Given the description of an element on the screen output the (x, y) to click on. 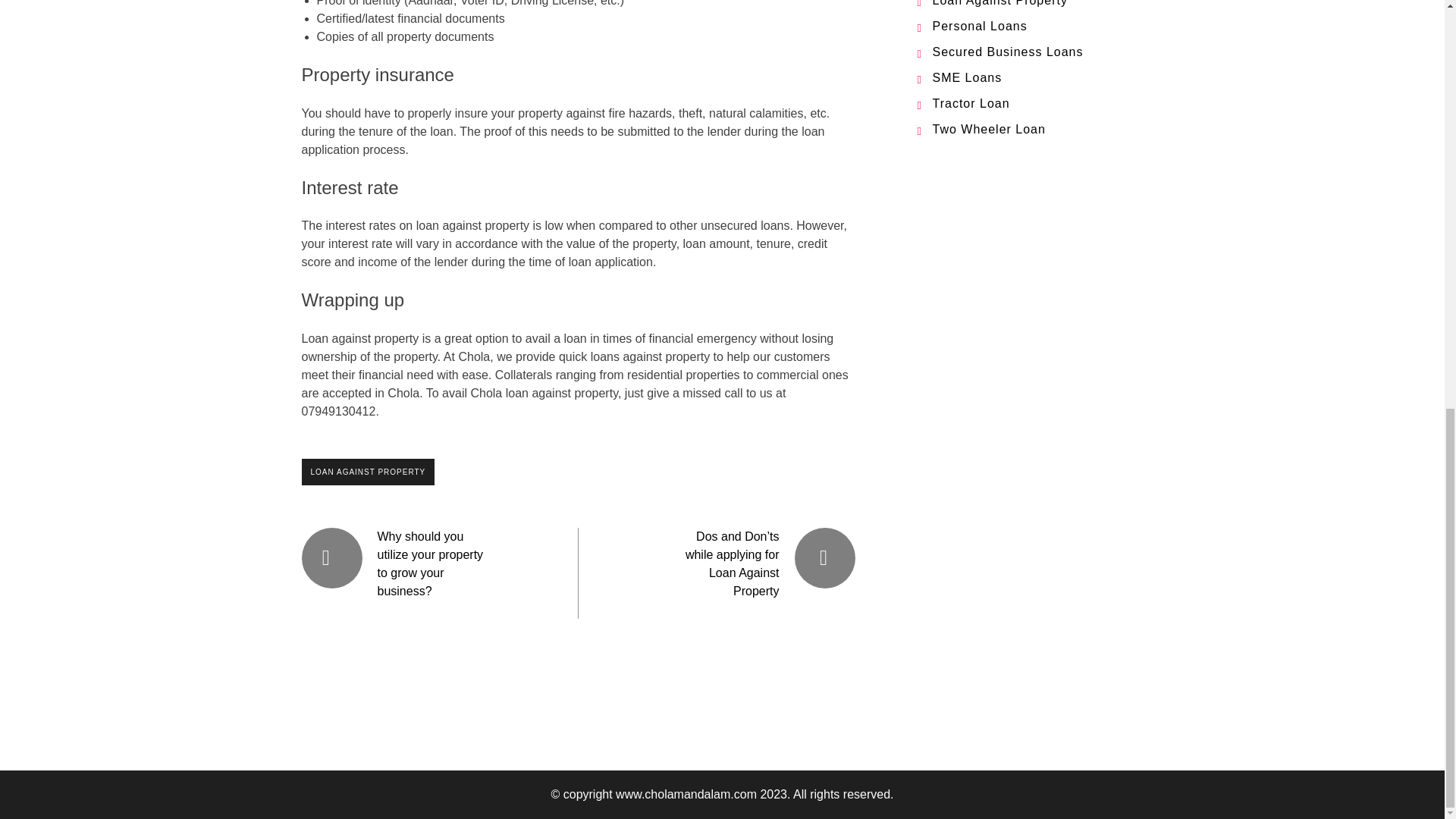
Loan Against Property (1000, 3)
SME Loans (968, 77)
Why should you utilize your property to grow your business? (430, 563)
Personal Loans (980, 25)
LOAN AGAINST PROPERTY (368, 471)
Secured Business Loans (1008, 51)
Tractor Loan (971, 103)
Two Wheeler Loan (989, 128)
